Given the description of an element on the screen output the (x, y) to click on. 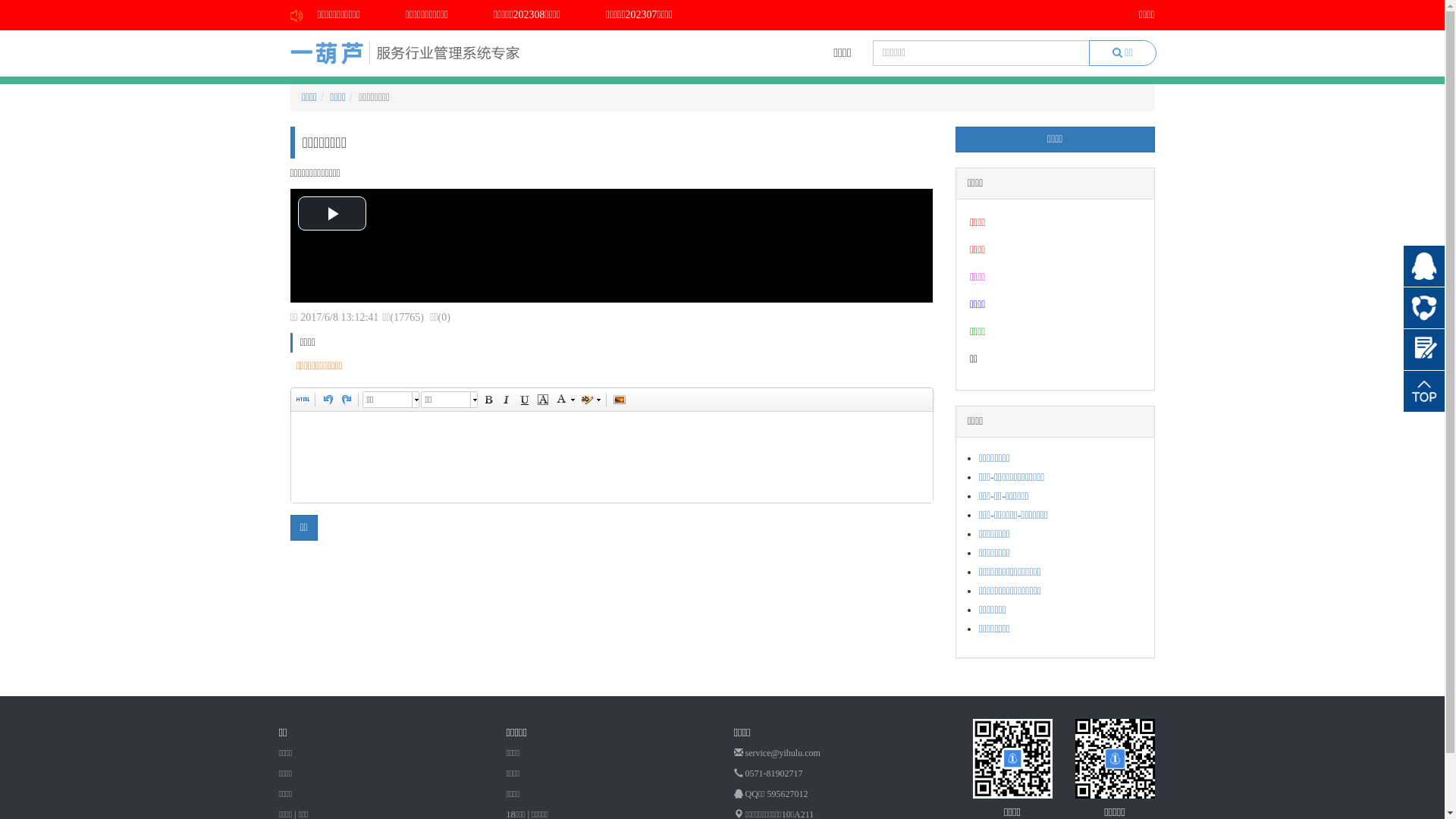
595627012 Element type: text (787, 793)
Play Video Element type: text (331, 213)
595627012 Element type: text (1427, 305)
